Given the description of an element on the screen output the (x, y) to click on. 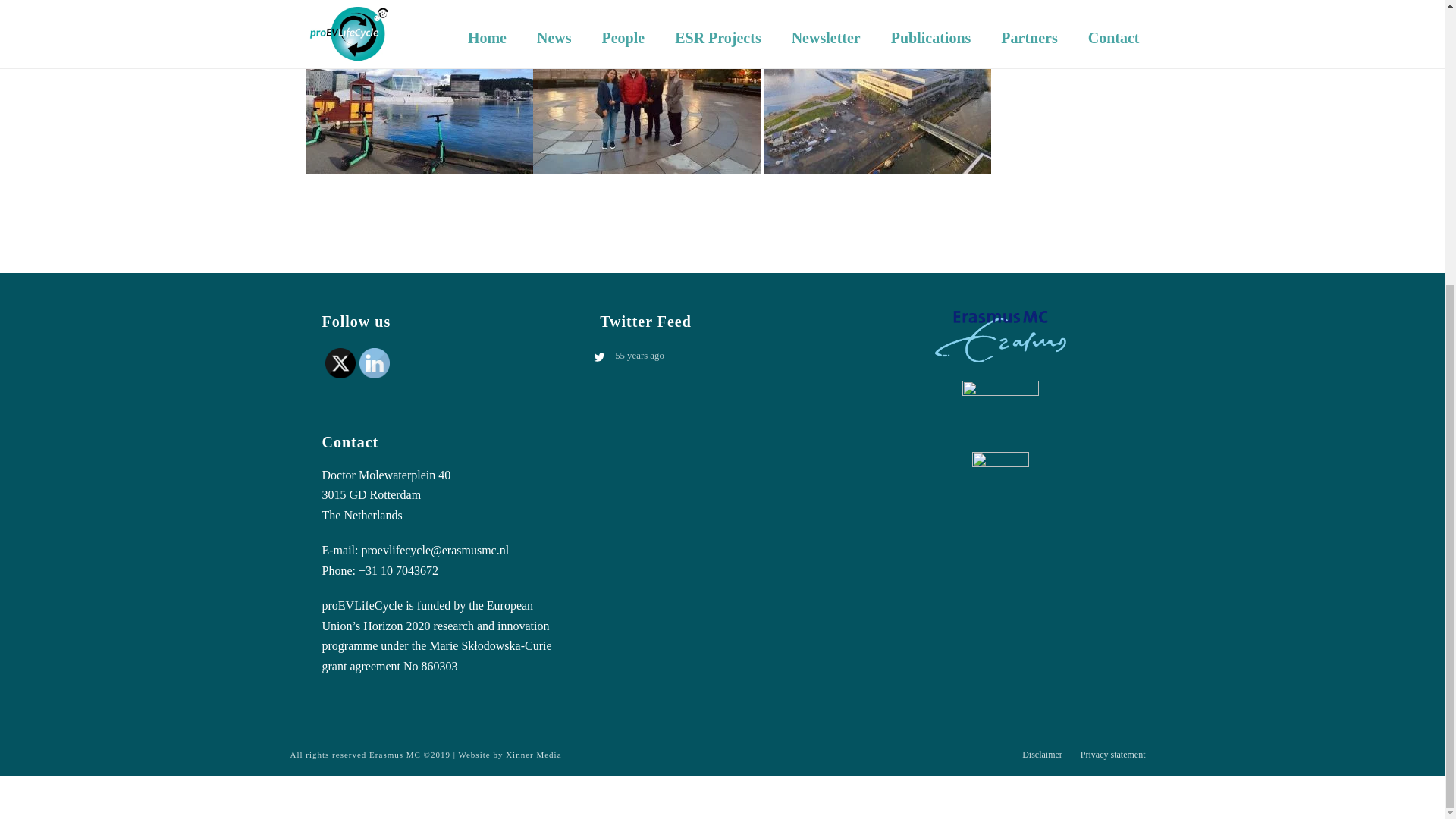
Twitter (339, 363)
Xinner Media (532, 754)
Disclaimer (1042, 754)
55 years ago (729, 355)
Privacy statement (1112, 754)
LinkedIn (374, 363)
